Given the description of an element on the screen output the (x, y) to click on. 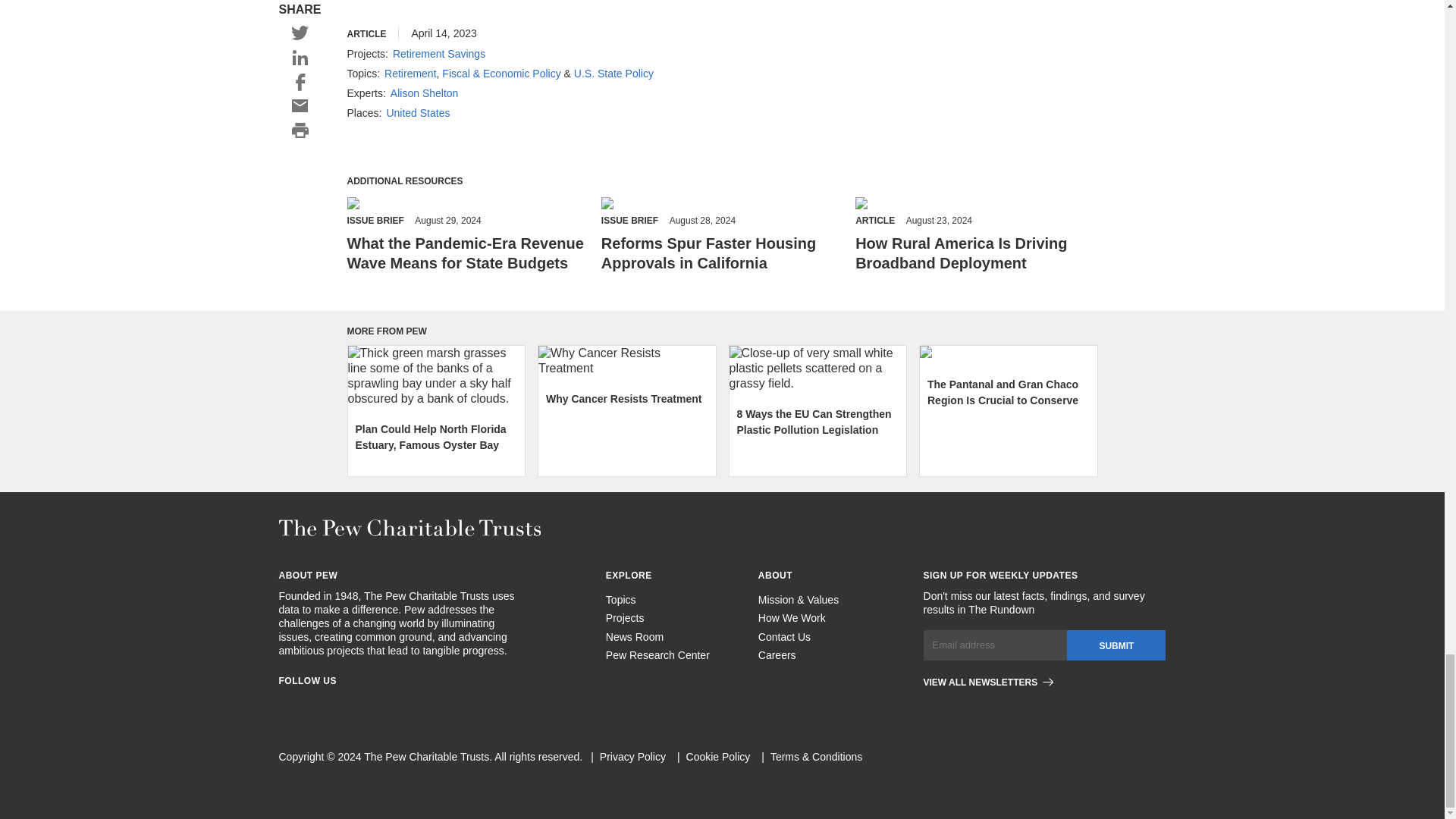
RSS (394, 704)
LinkedIn (340, 704)
YouTube (421, 704)
Follow us on twitter  (367, 704)
Instagram (312, 704)
